Given the description of an element on the screen output the (x, y) to click on. 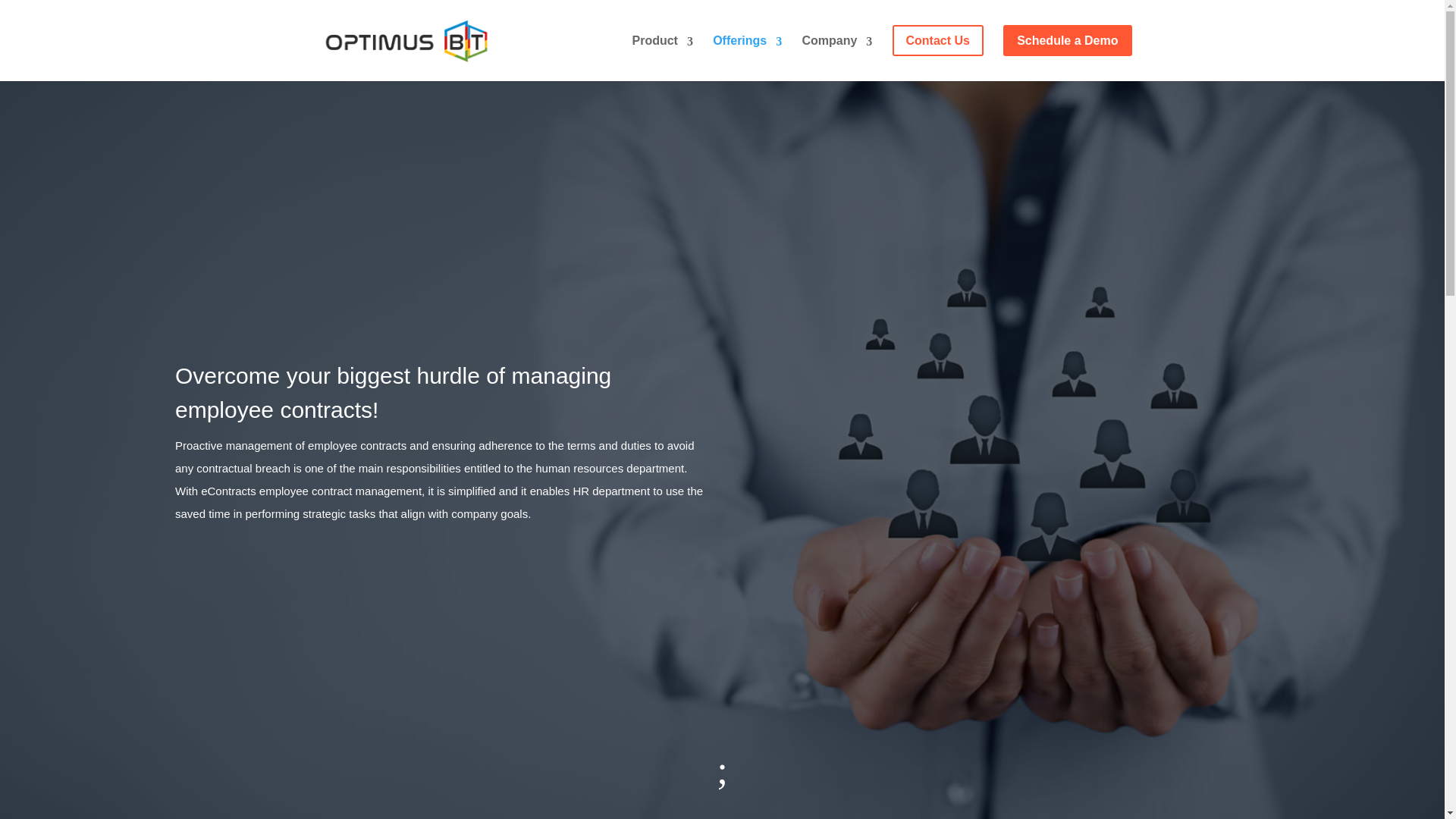
Offerings (747, 53)
Product (662, 53)
